Given the description of an element on the screen output the (x, y) to click on. 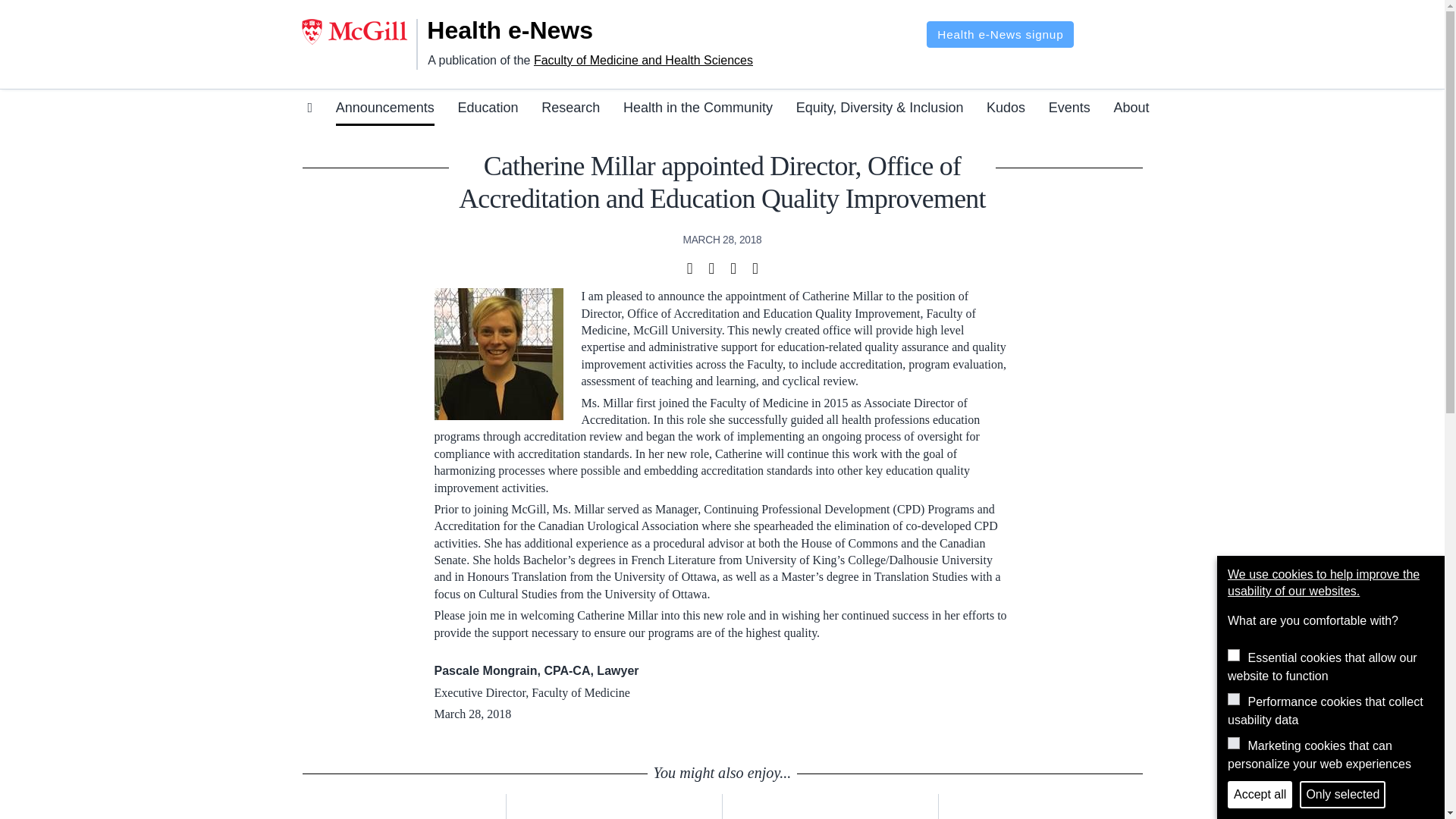
Kudos (1006, 110)
McGill University (358, 31)
Health in the Community (698, 110)
required (1233, 654)
Research (570, 110)
Announcements (384, 110)
Events (1069, 110)
performance (1233, 698)
Education (487, 110)
marketing (1233, 743)
About (1130, 110)
Health e-News (529, 30)
Faculty of Medicine and Health Sciences (643, 60)
Home (529, 30)
Health e-News signup (1000, 34)
